Given the description of an element on the screen output the (x, y) to click on. 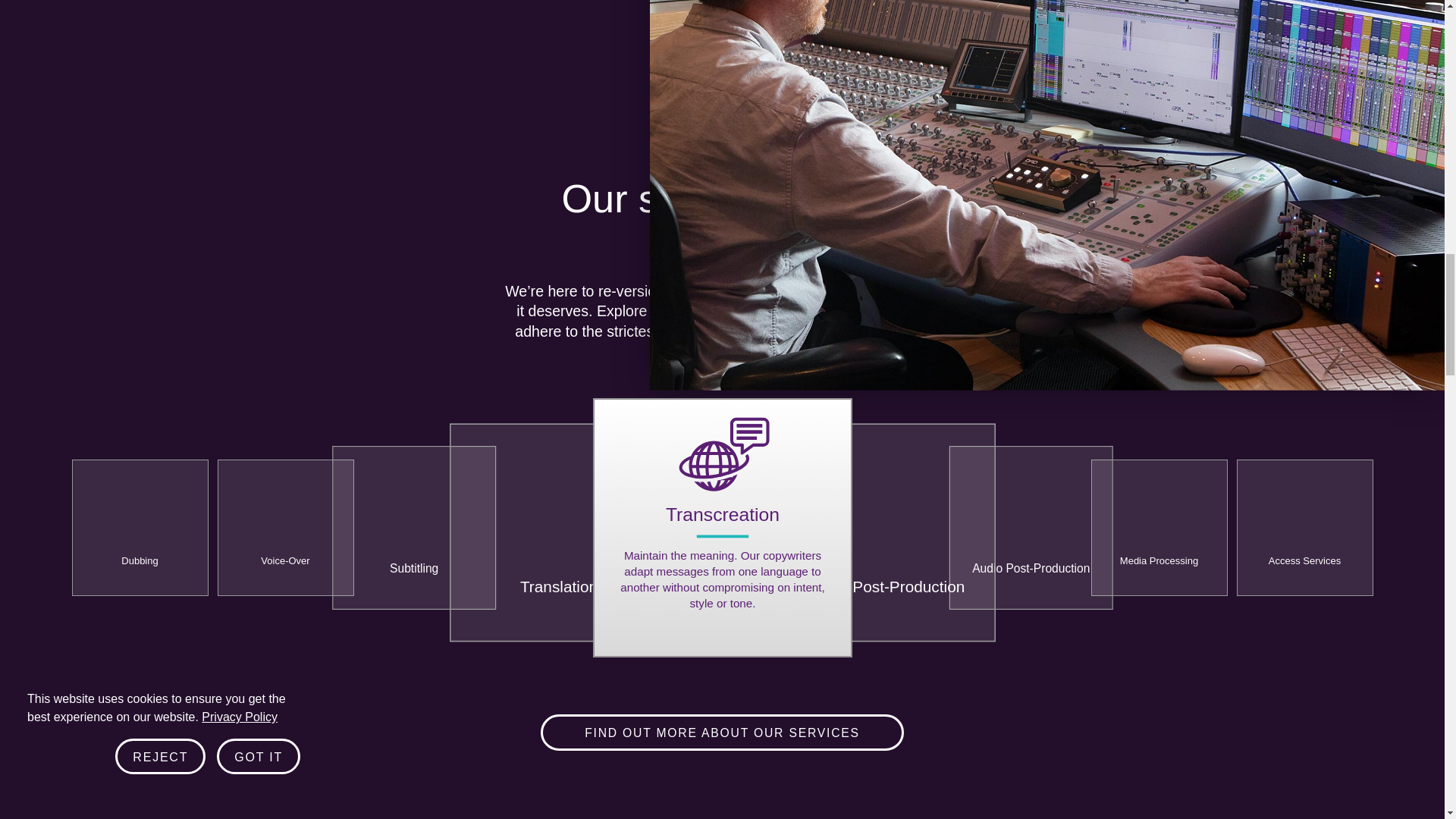
FIND OUT MORE ABOUT OUR SERVICES (722, 732)
